Given the description of an element on the screen output the (x, y) to click on. 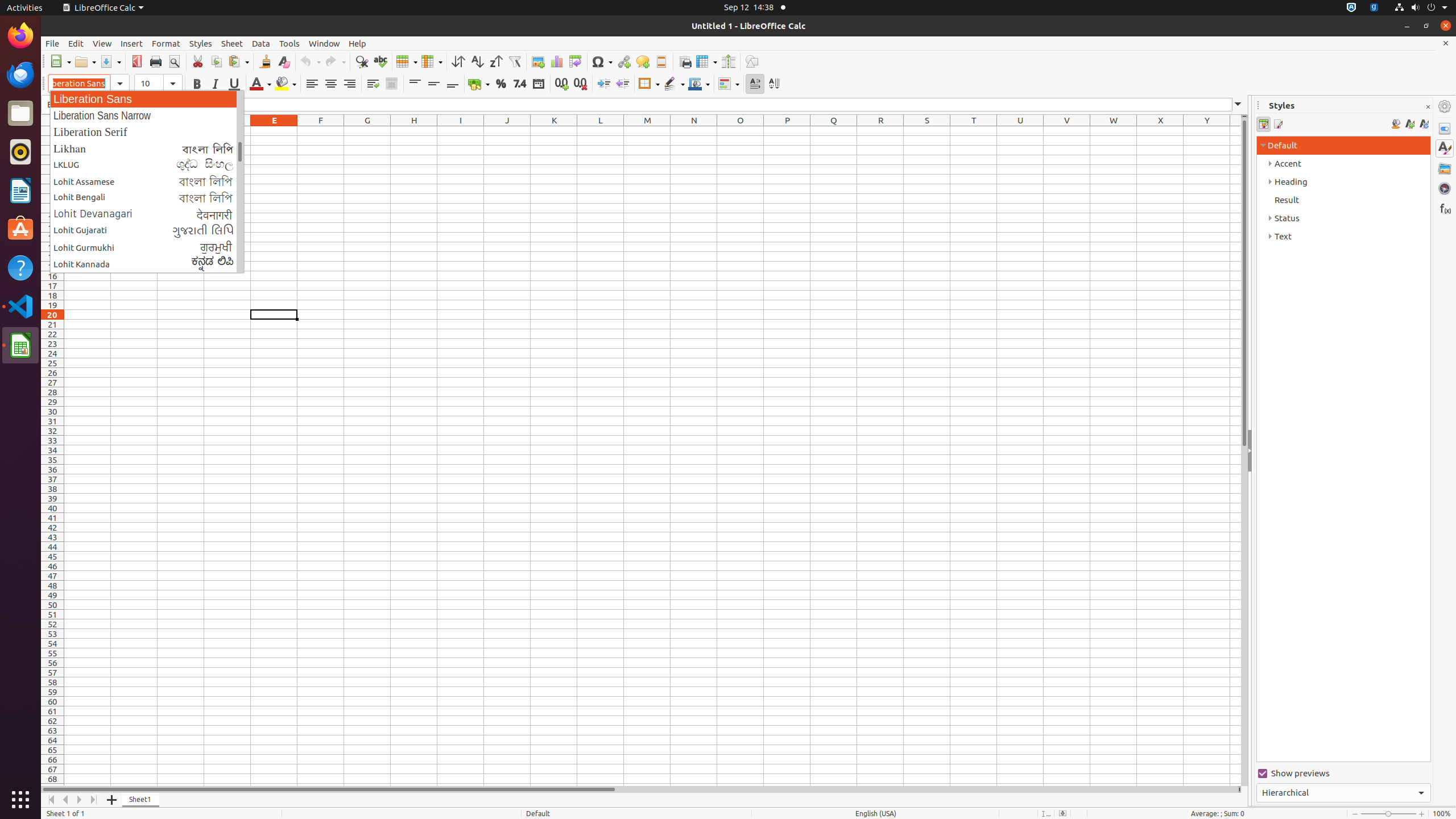
Number Element type: push-button (519, 83)
V1 Element type: table-cell (1066, 130)
Y1 Element type: table-cell (1206, 130)
M1 Element type: table-cell (646, 130)
Print Element type: push-button (155, 61)
